Given the description of an element on the screen output the (x, y) to click on. 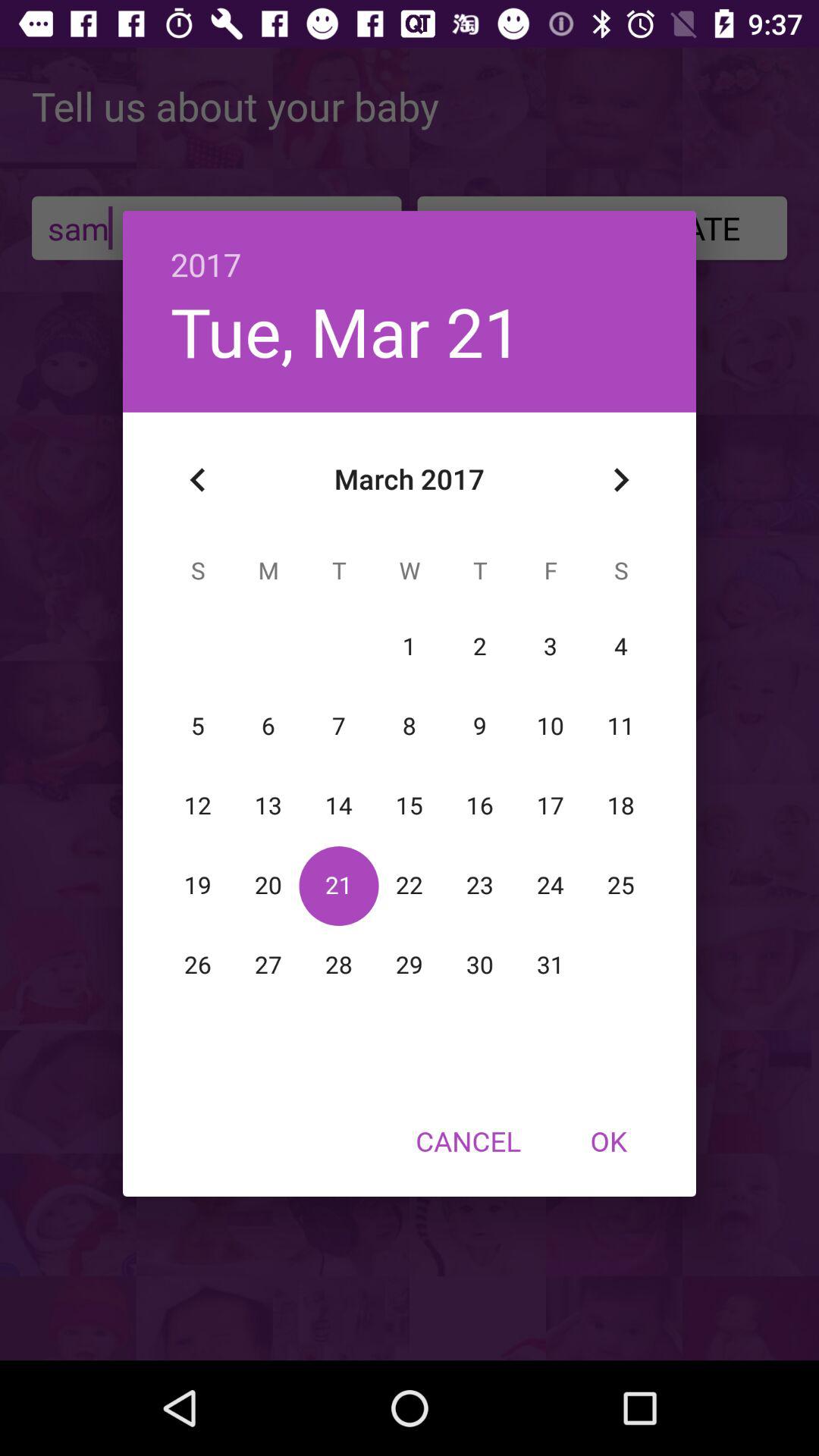
press the icon above the ok item (620, 479)
